Given the description of an element on the screen output the (x, y) to click on. 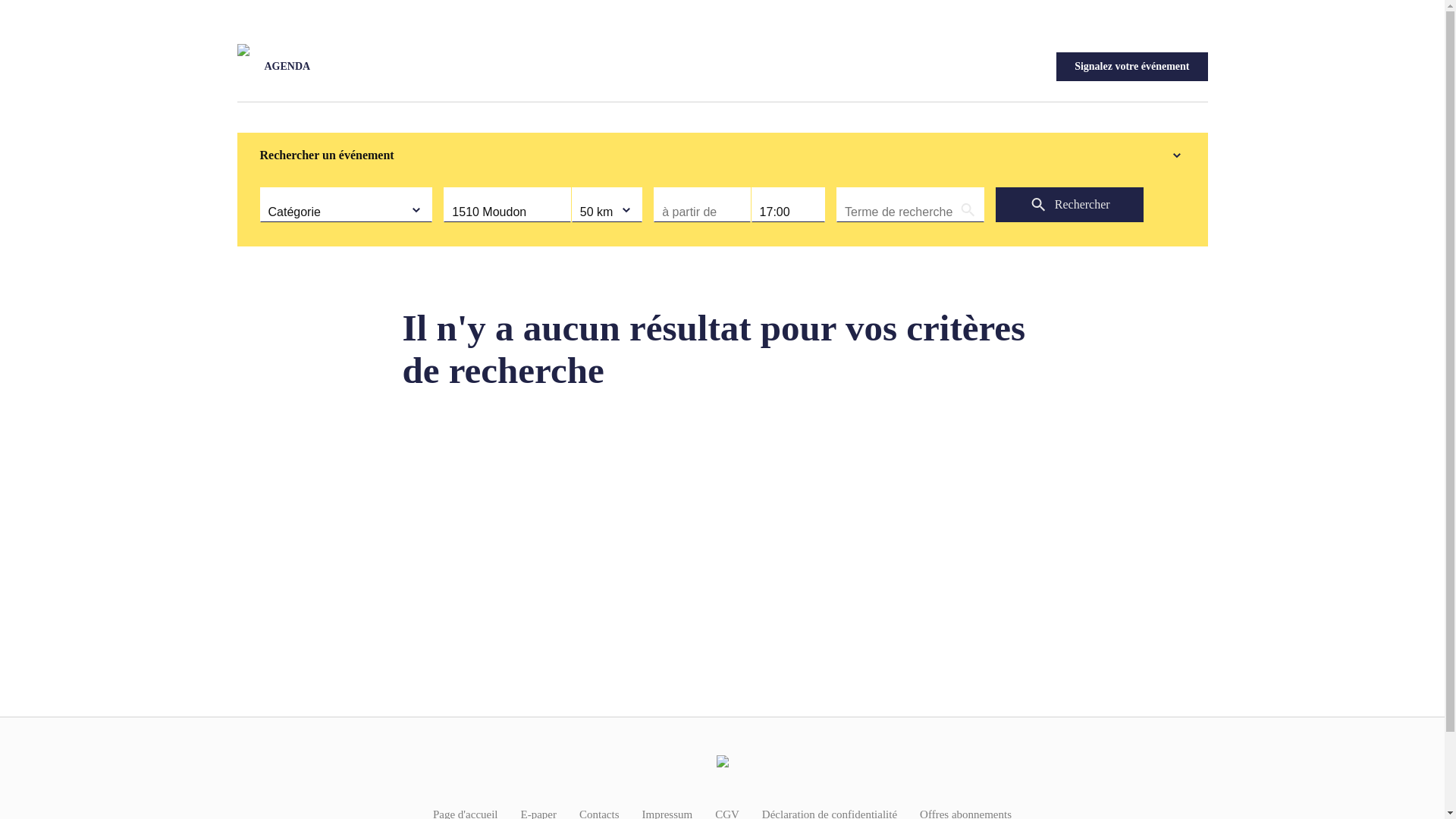
Rechercher Element type: text (1069, 204)
AGENDA Element type: text (286, 66)
